Given the description of an element on the screen output the (x, y) to click on. 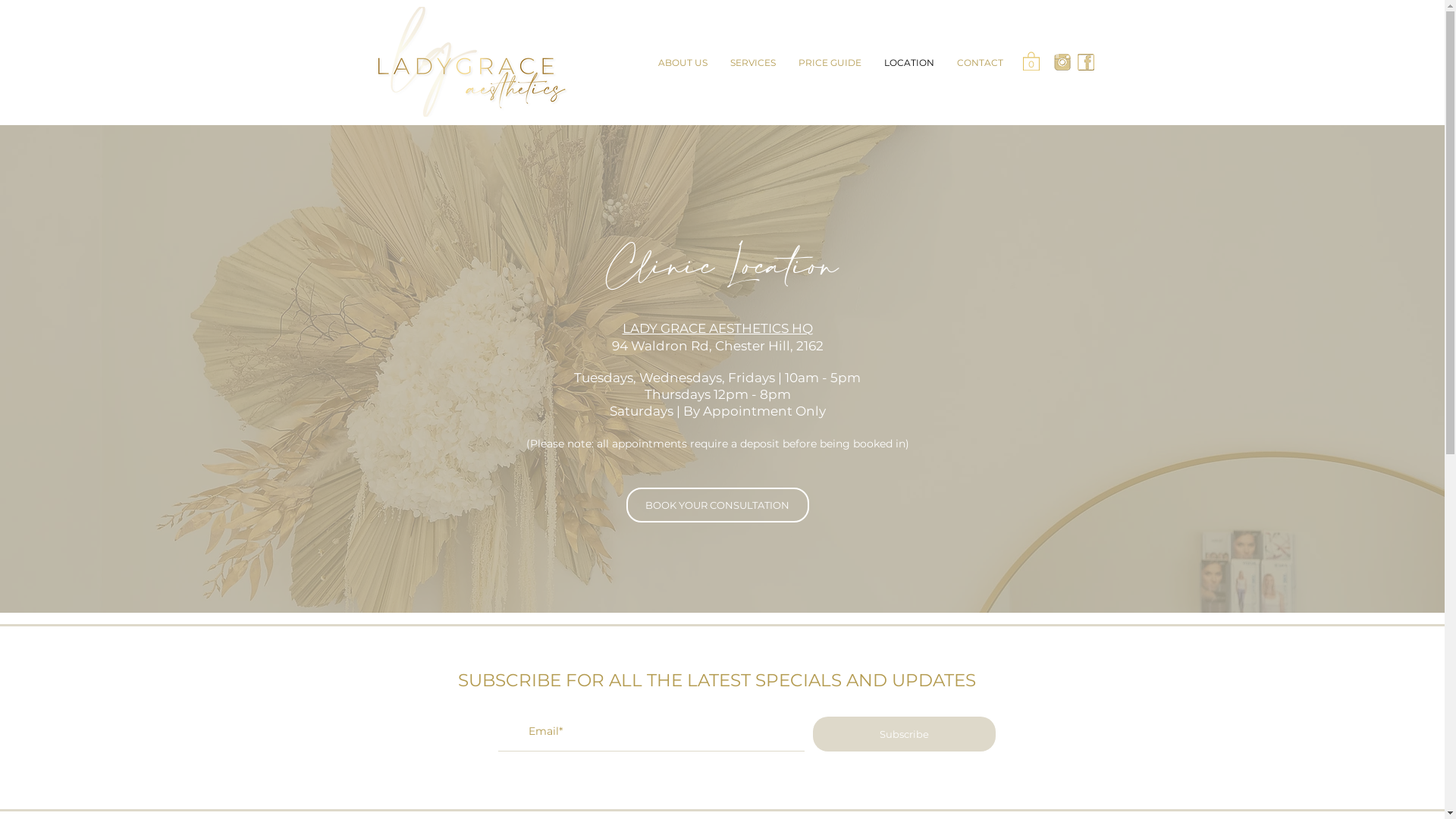
0 Element type: text (1030, 60)
94 Waldron Rd, Chester Hill, 2162 Element type: text (716, 345)
CONTACT Element type: text (978, 62)
LADY GRACE AESTHETICS HQ Element type: text (716, 327)
Subscribe Element type: text (903, 733)
ABOUT US Element type: text (682, 62)
PRICE GUIDE Element type: text (829, 62)
BOOK YOUR CONSULTATION Element type: text (717, 504)
LOCATION Element type: text (908, 62)
